Given the description of an element on the screen output the (x, y) to click on. 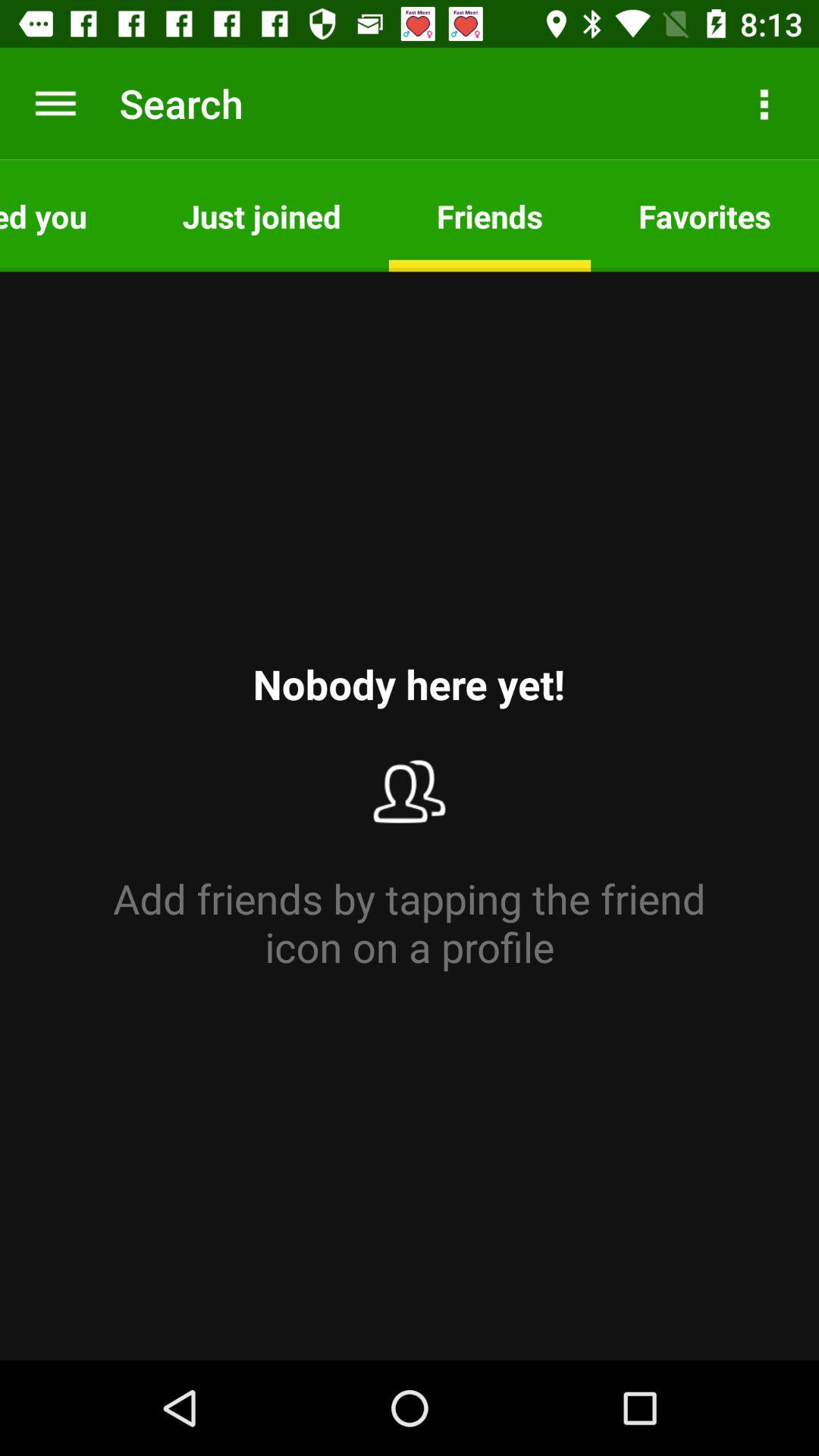
turn on the item to the right of the friends item (763, 103)
